Given the description of an element on the screen output the (x, y) to click on. 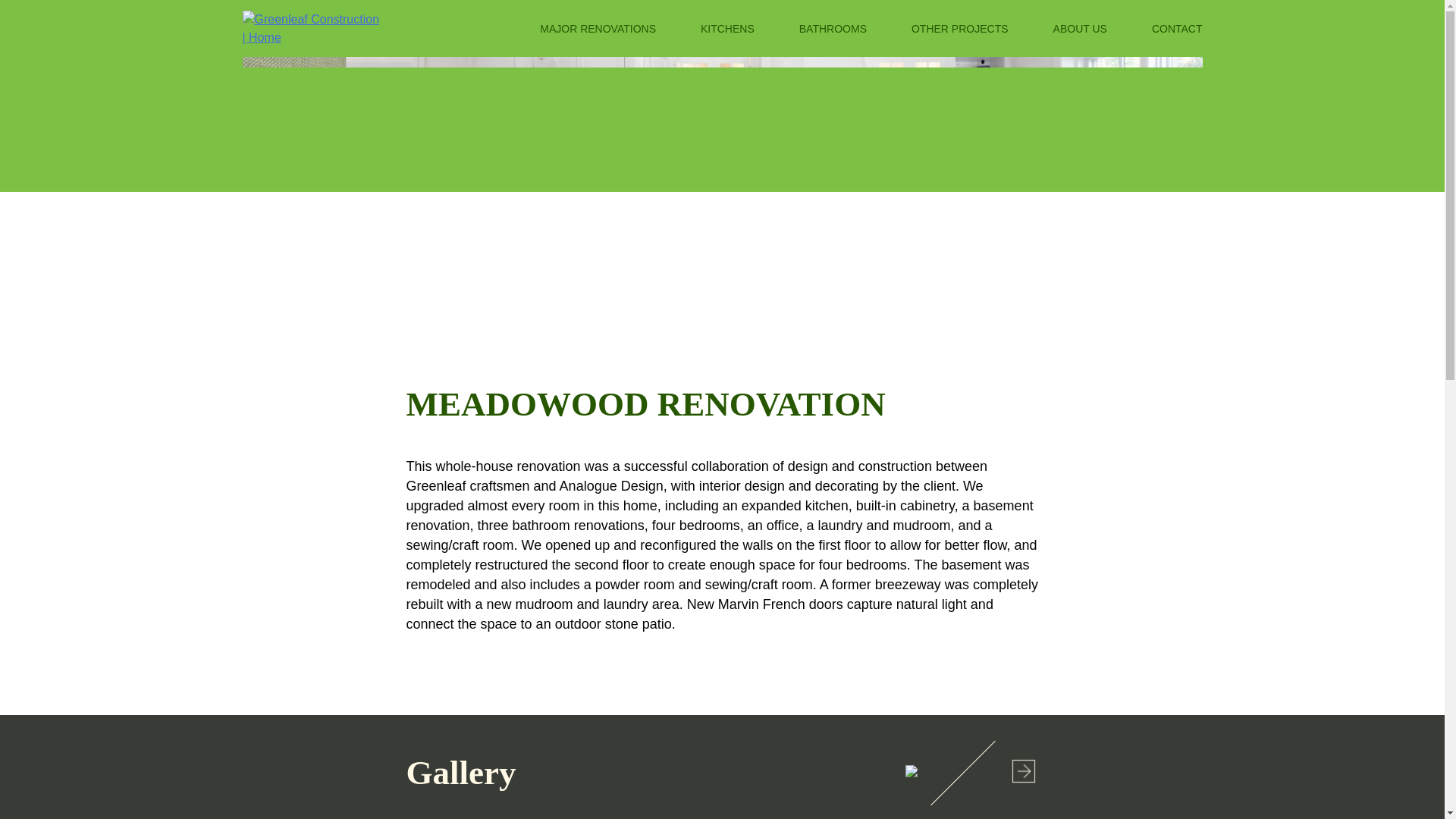
OTHER PROJECTS (960, 28)
BATHROOMS (832, 28)
KITCHENS (727, 28)
ABOUT US (1079, 28)
CONTACT (1176, 28)
MAJOR RENOVATIONS (598, 28)
